Given the description of an element on the screen output the (x, y) to click on. 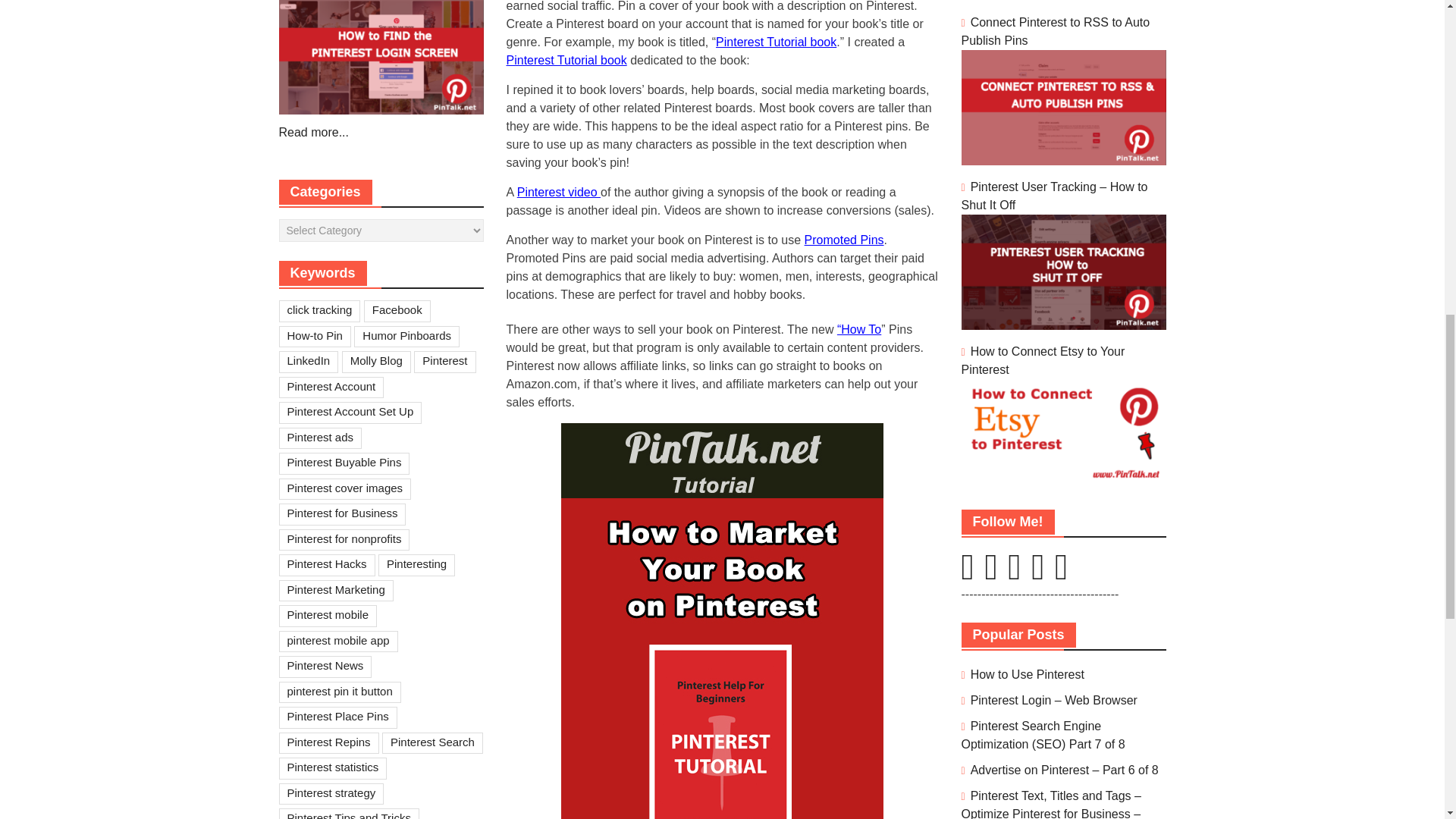
Pinterest video (557, 192)
PinTalk Pinterest (967, 574)
Pinterest Tutorial book (566, 60)
How to Connect Etsy to Your Pinterest (1063, 477)
Connect Pinterest to RSS to Auto Publish Pins (1055, 30)
Instagram (990, 574)
Pinterest Tutorial book (775, 42)
Connect Pinterest to RSS to Auto Publish Pins (1063, 160)
Pinterest User Tracking - How to Shut It Off (1063, 325)
Promoted Pins (844, 239)
PinTalk LinkedIn (1014, 574)
